Given the description of an element on the screen output the (x, y) to click on. 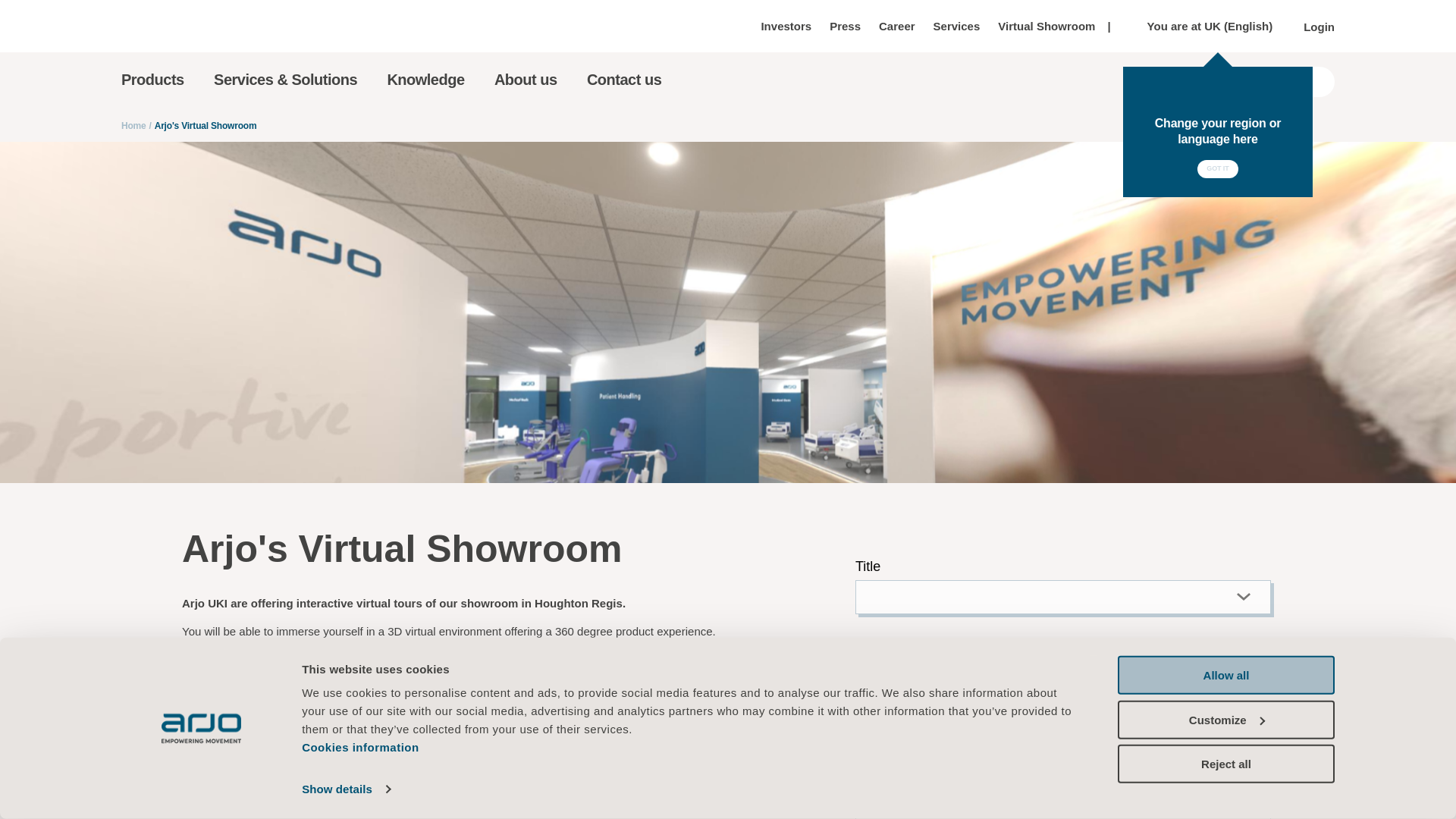
Cookies information (360, 747)
Home (162, 26)
Arjo's Virtual Showroom (1065, 673)
Show details (345, 789)
